Given the description of an element on the screen output the (x, y) to click on. 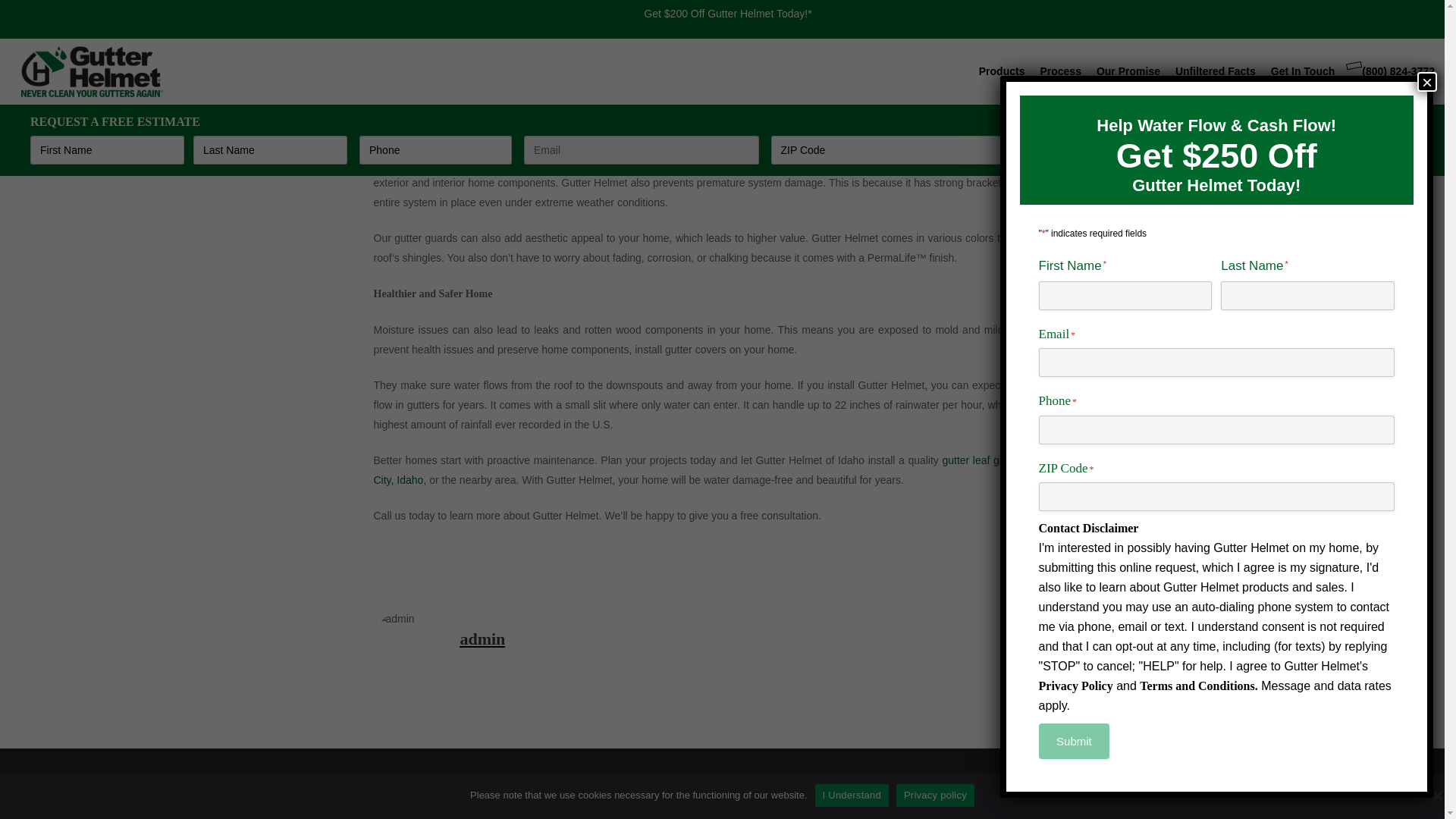
Gutter Fall Maintenance: Why Should You Do It (721, 4)
